Given the description of an element on the screen output the (x, y) to click on. 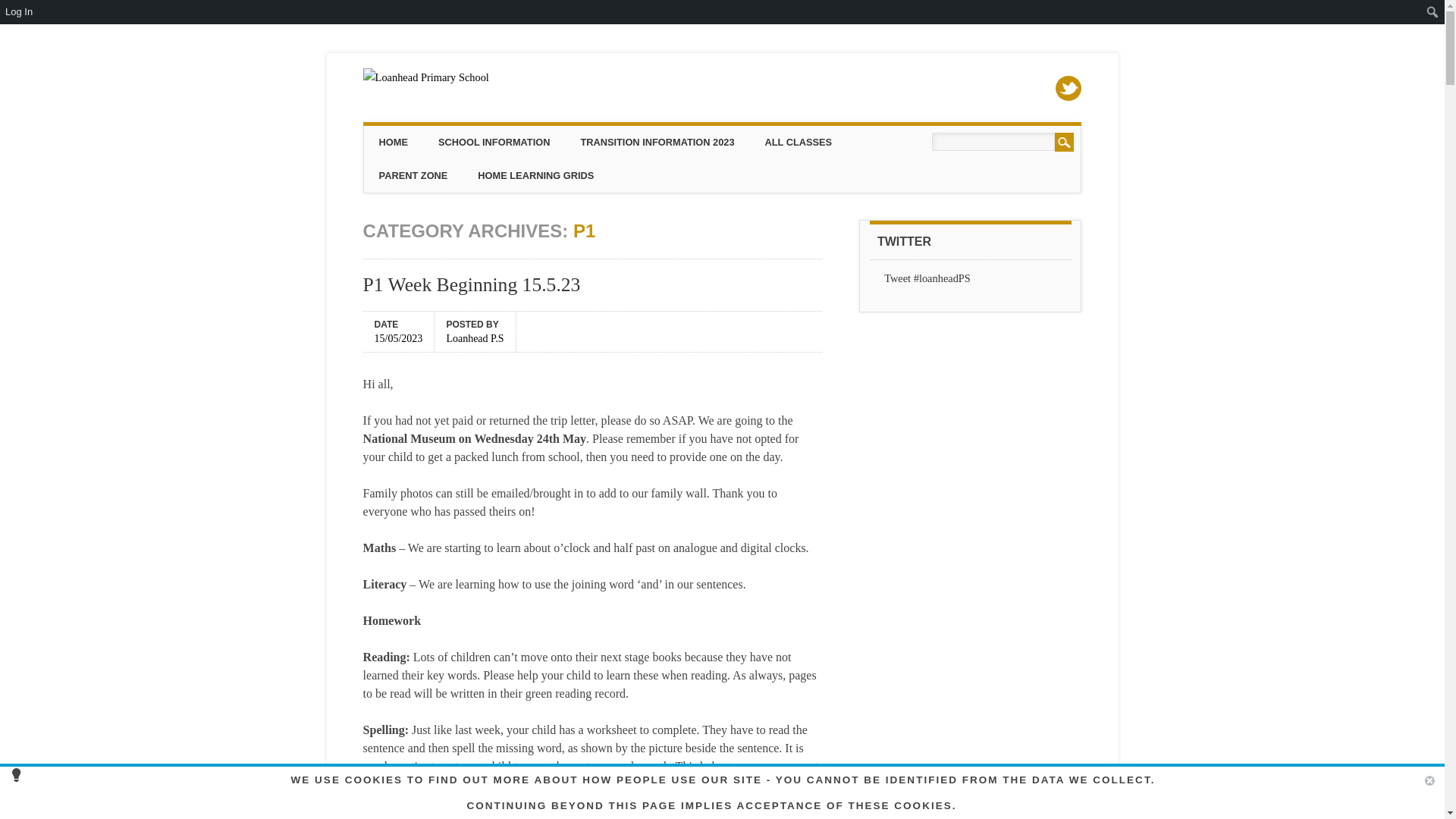
ALL CLASSES (798, 142)
SCHOOL INFORMATION (493, 142)
PARENT ZONE (413, 175)
Twitter (1068, 88)
HOME LEARNING GRIDS (535, 175)
Loanhead Primary School (425, 77)
Permalink to P1 Week Beginning 15.5.23 (471, 284)
TRANSITION INFORMATION 2023 (656, 142)
View all posts by Loanhead P.S (474, 336)
8:09 pm (398, 336)
